Given the description of an element on the screen output the (x, y) to click on. 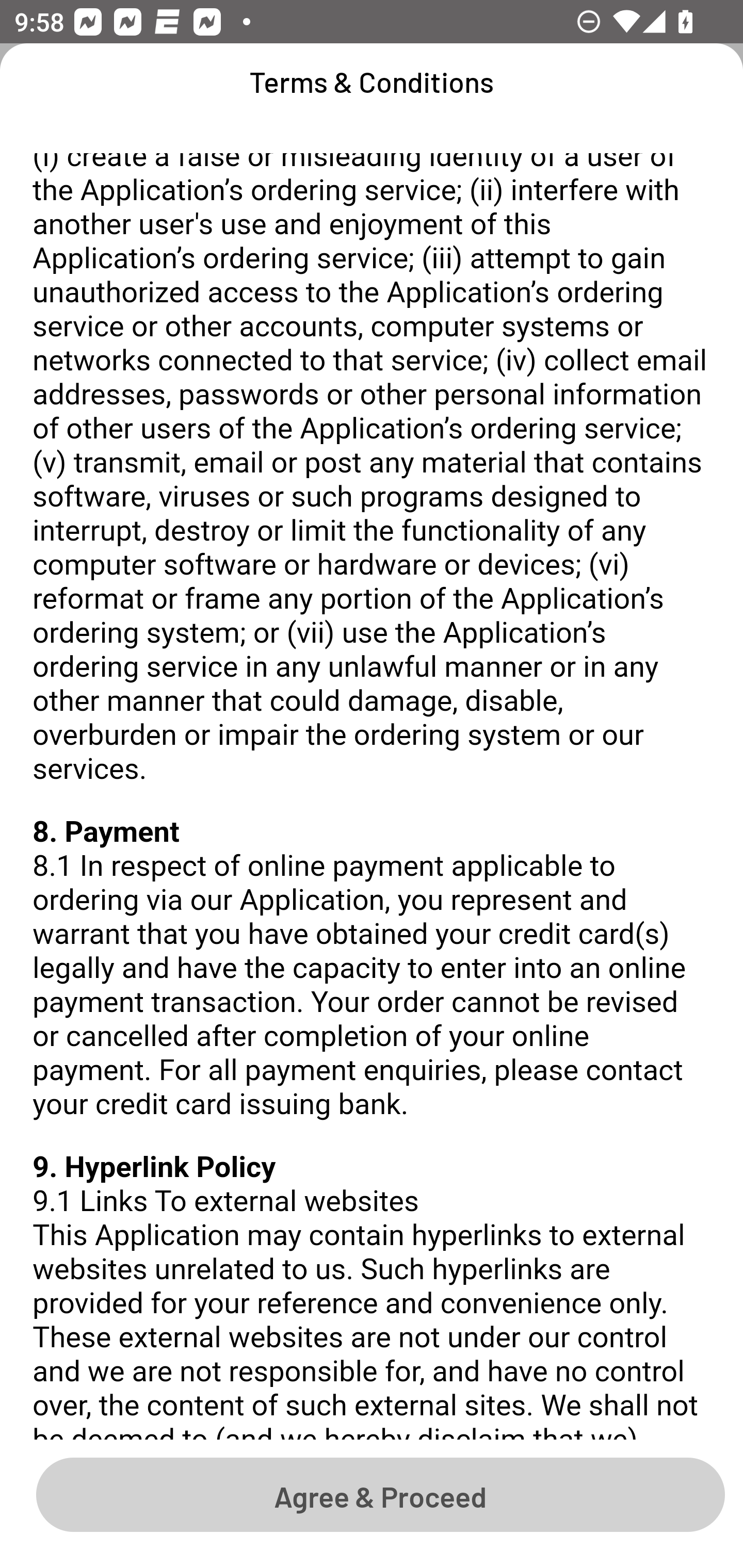
Agree & Proceed (380, 1494)
